Given the description of an element on the screen output the (x, y) to click on. 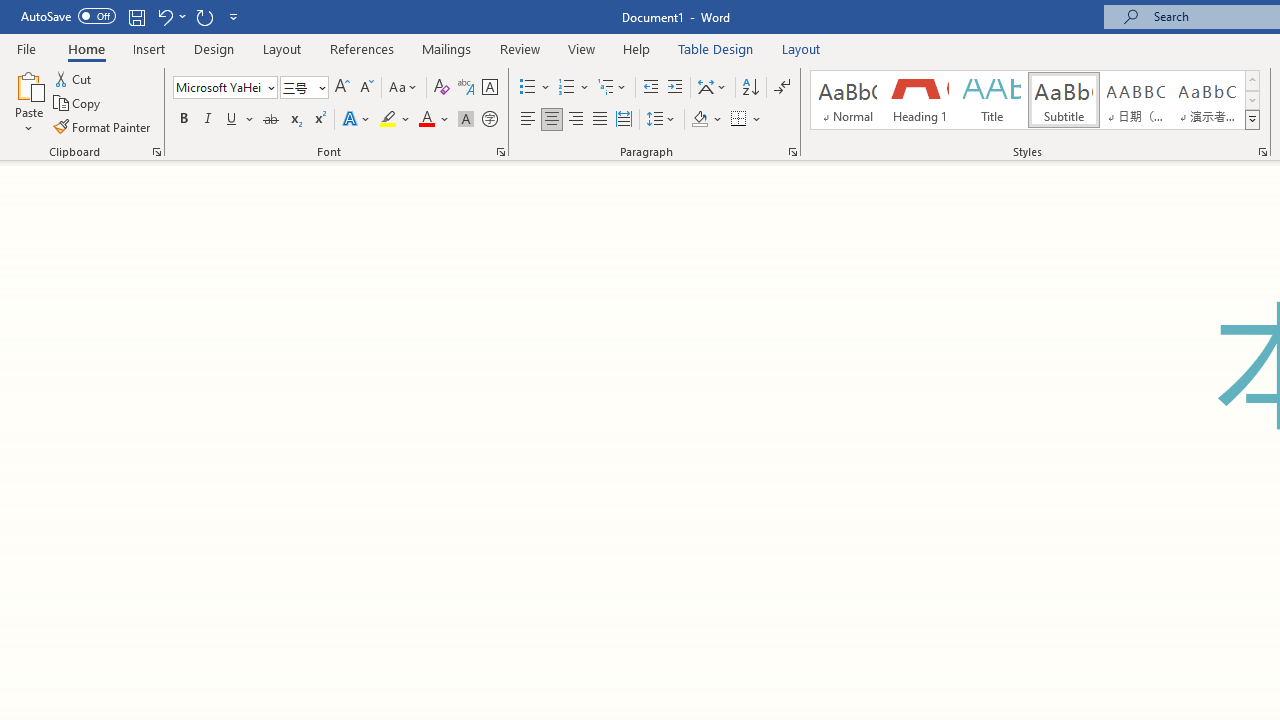
Multilevel List (613, 87)
Mailings (447, 48)
Borders (739, 119)
Text Effects and Typography (357, 119)
System (10, 11)
Subtitle (1063, 100)
Bullets (527, 87)
Show/Hide Editing Marks (781, 87)
Undo Apply Quick Style (164, 15)
Bold (183, 119)
Change Case (404, 87)
Text Highlight Color Yellow (388, 119)
Font (218, 87)
Insert (149, 48)
Copy (78, 103)
